Given the description of an element on the screen output the (x, y) to click on. 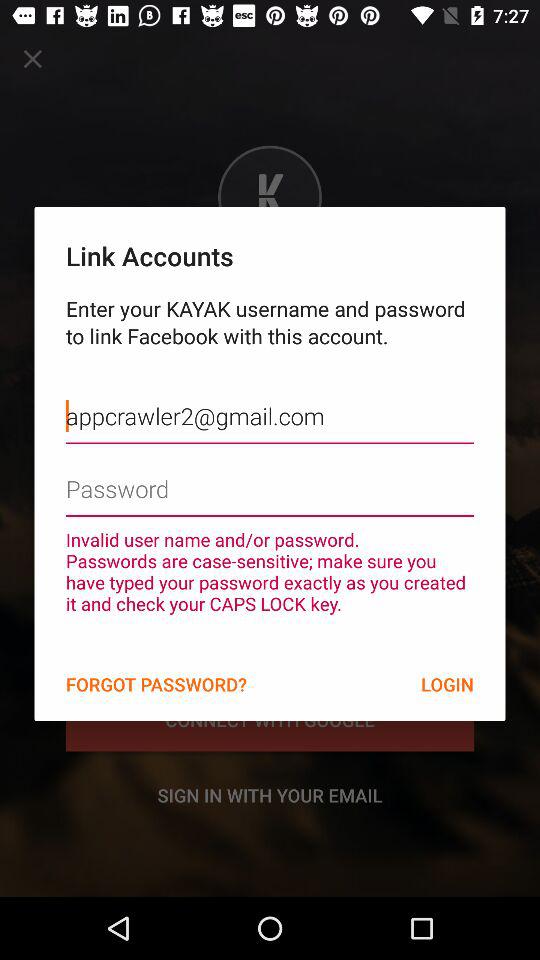
turn off the item at the bottom right corner (447, 683)
